Given the description of an element on the screen output the (x, y) to click on. 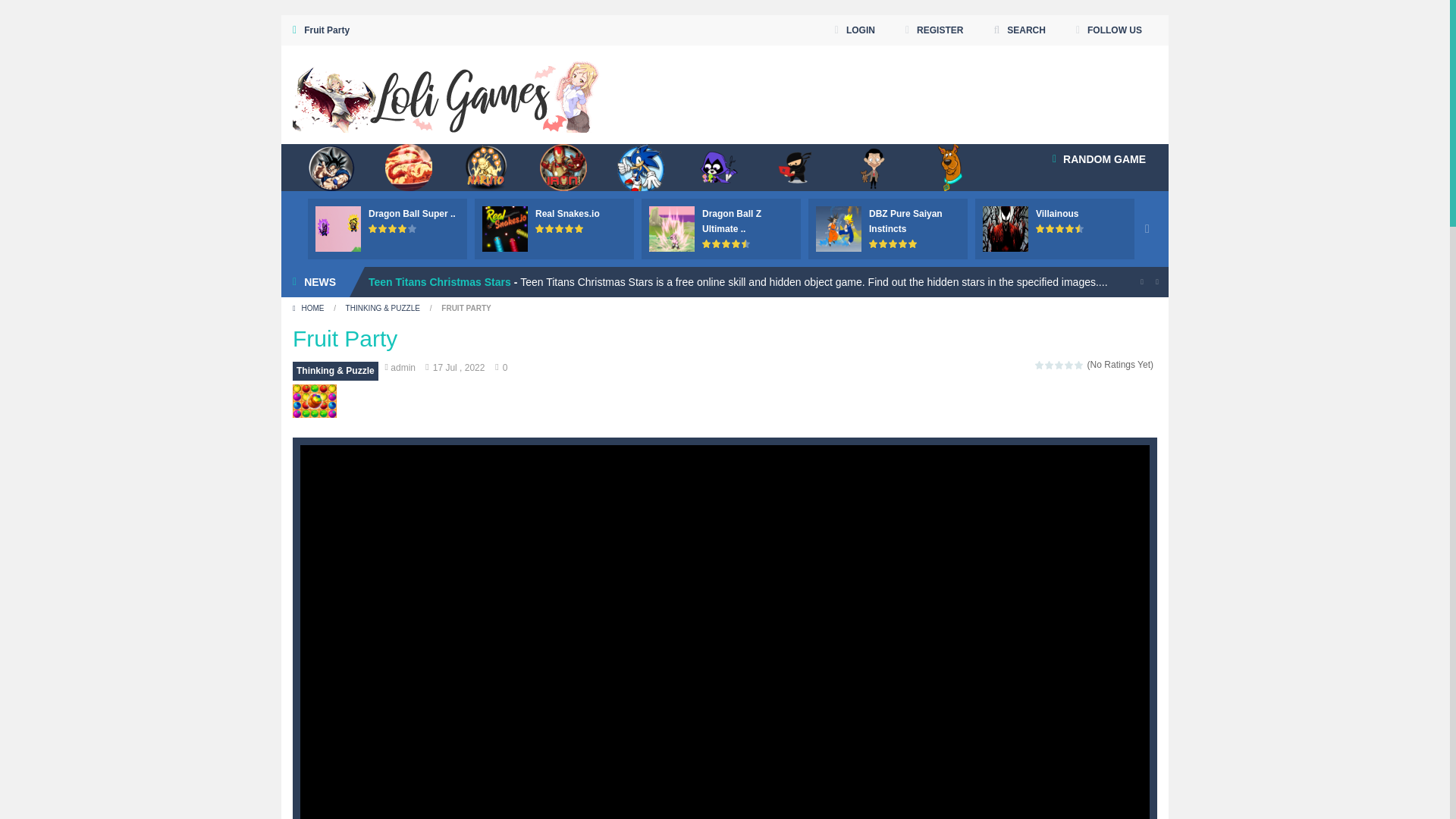
Play a random game! (1099, 159)
DBZ Pure Saiyan Instincts (905, 221)
Real Snakes.io (567, 213)
FOLLOW US (1108, 30)
LOGIN (855, 30)
1 vote, average: 5.00 out of 5 (539, 228)
SEARCH (1019, 30)
59 votes, average: 4.22 out of 5 (373, 228)
Loli Games (446, 93)
59 votes, average: 4.22 out of 5 (392, 228)
59 votes, average: 4.22 out of 5 (383, 228)
Loli Games (446, 94)
59 votes, average: 4.22 out of 5 (402, 228)
REGISTER (933, 30)
Dragon Ball Z Ultimate .. (731, 221)
